Given the description of an element on the screen output the (x, y) to click on. 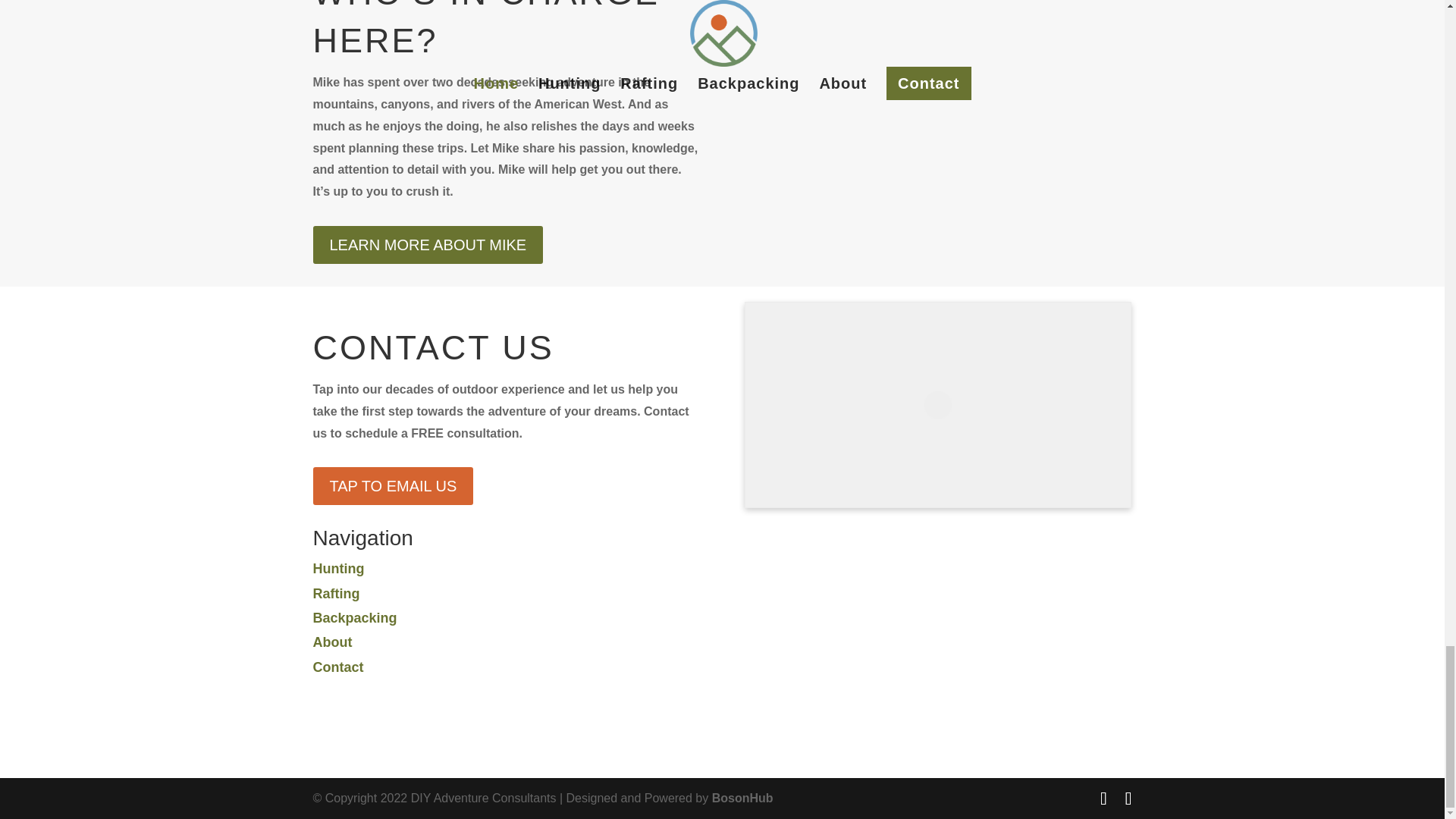
Backpacking (354, 617)
Contact (337, 667)
Rafting (336, 593)
Hunting (338, 568)
About (332, 642)
BosonHub (742, 797)
LEARN MORE ABOUT MIKE (428, 244)
TAP TO EMAIL US (393, 485)
